Given the description of an element on the screen output the (x, y) to click on. 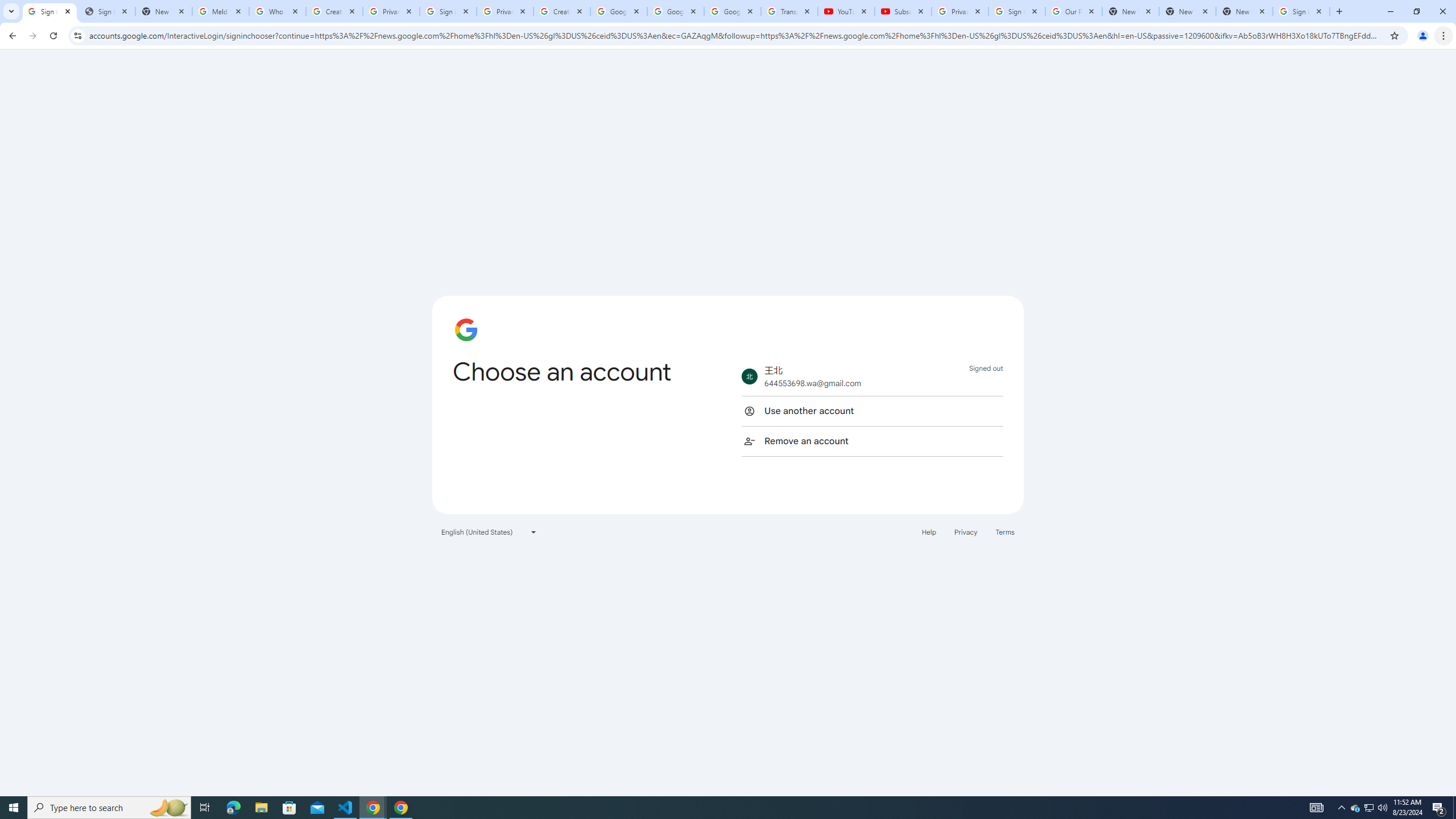
Google Account (731, 11)
Sign in - Google Accounts (447, 11)
Create your Google Account (334, 11)
Use another account (871, 410)
